Given the description of an element on the screen output the (x, y) to click on. 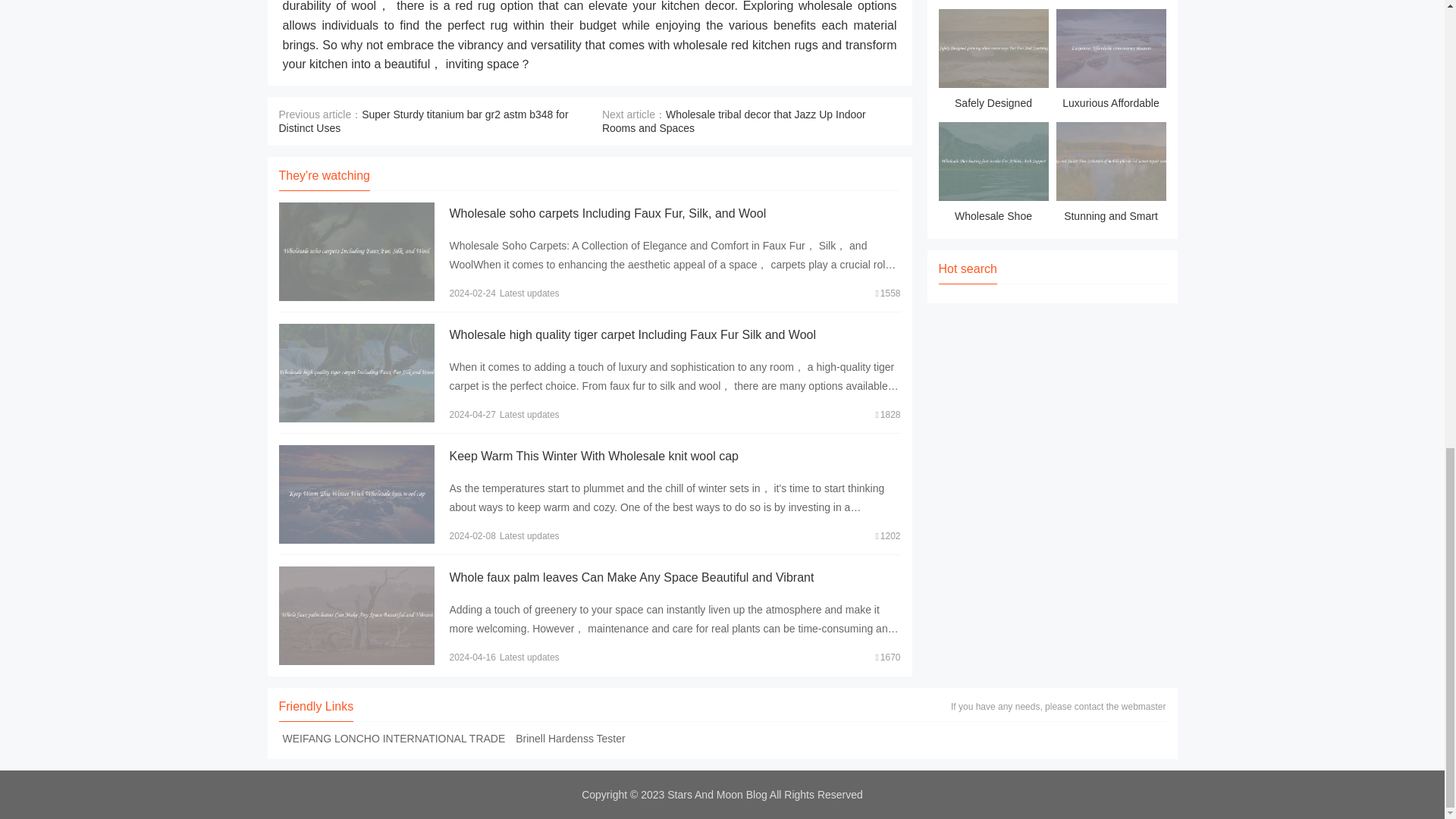
Super Sturdy titanium bar gr2 astm b348 for Distinct Uses (424, 121)
Wholesale soho carpets Including Faux Fur, Silk, and Wool (606, 213)
WEIFANG LONCHO INTERNATIONAL TRADE (394, 738)
Brinell Hardenss Tester (570, 738)
Keep Warm This Winter With Wholesale knit wool cap (593, 455)
Luxurious Affordable convenience theaters (1110, 61)
